Given the description of an element on the screen output the (x, y) to click on. 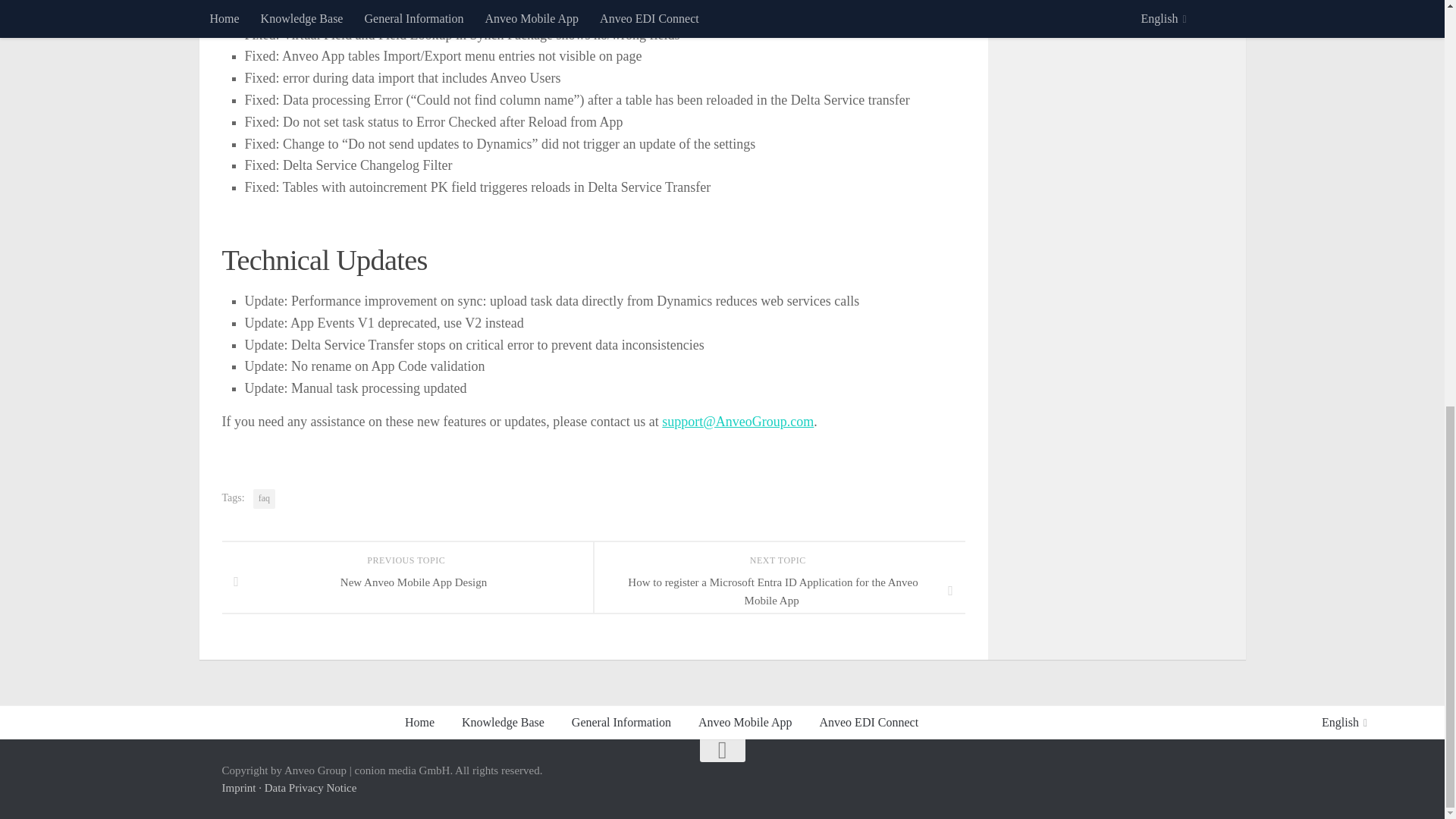
Home (419, 722)
faq (264, 498)
General Information (620, 722)
Knowledge Base (502, 722)
New Anveo Mobile App Design (406, 582)
